Given the description of an element on the screen output the (x, y) to click on. 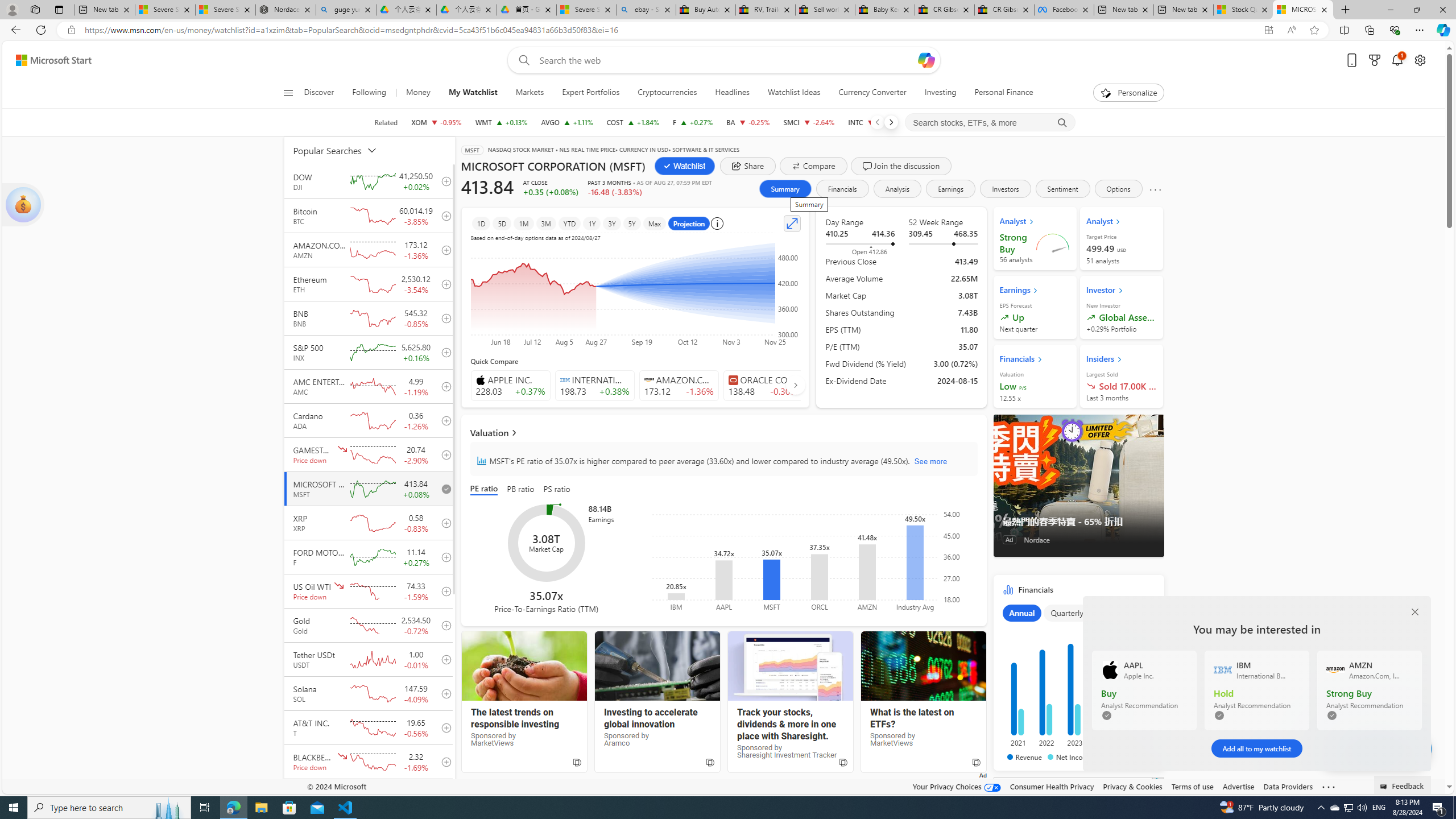
Advertise (1238, 786)
Address and search bar (669, 29)
AutomationID: finance_carousel_navi_arrow (795, 385)
ebay - Search (646, 9)
Quarterly (1066, 612)
Sell worldwide with eBay (825, 9)
Personal Profile (12, 9)
1Y (591, 223)
PB ratio (520, 489)
View site information (70, 29)
